Given the description of an element on the screen output the (x, y) to click on. 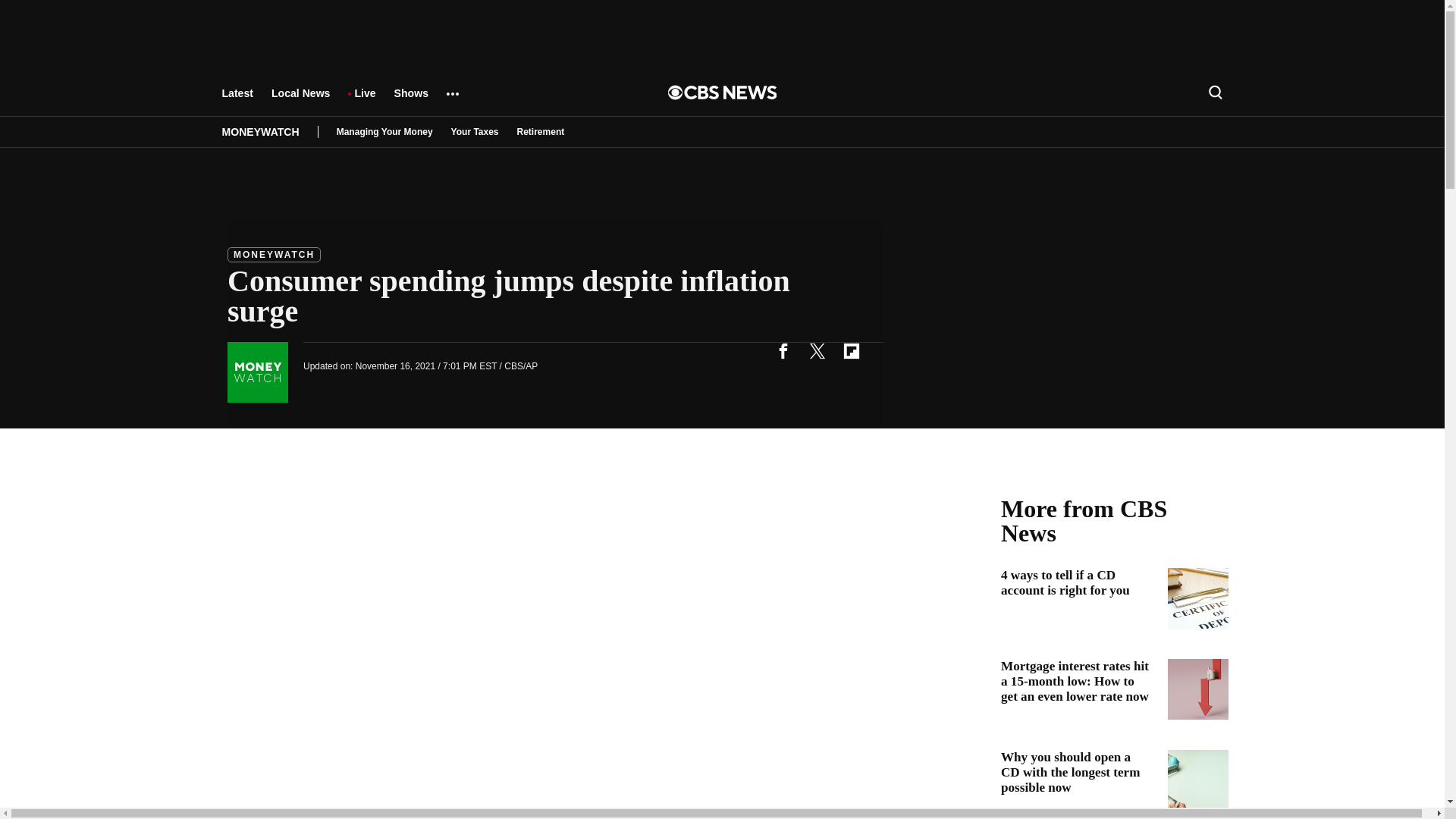
twitter (816, 350)
flipboard (850, 350)
Local News (300, 100)
facebook (782, 350)
Latest (236, 100)
